Given the description of an element on the screen output the (x, y) to click on. 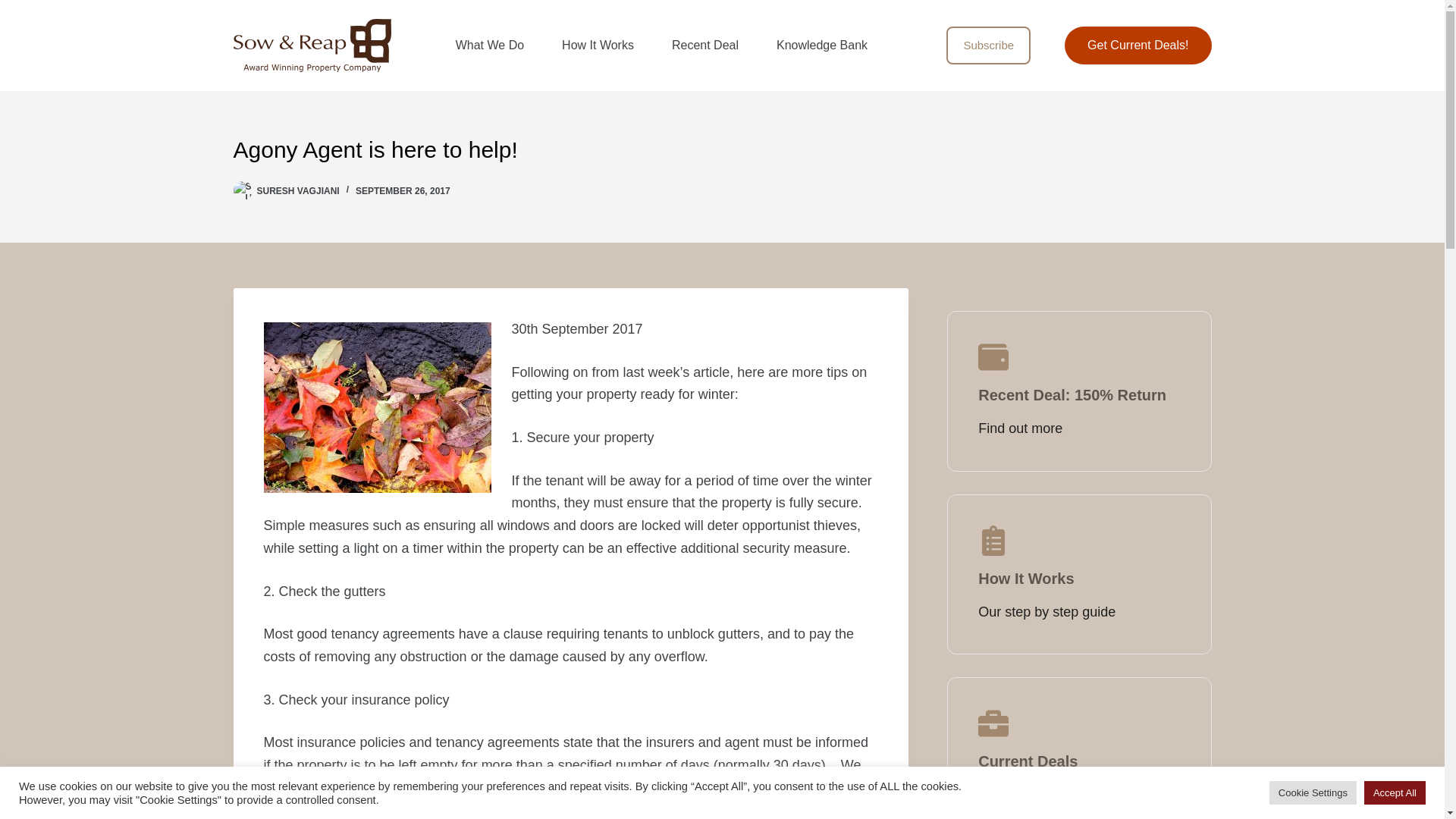
What We Do (489, 45)
Recent Deal (704, 45)
Posts by Suresh Vagjiani (297, 190)
Skip to content (15, 7)
Agony Agent is here to help! (721, 149)
How It Works (597, 45)
SURESH VAGJIANI (297, 190)
Subscribe (988, 45)
Knowledge Bank (821, 45)
Get Current Deals! (1137, 45)
